Given the description of an element on the screen output the (x, y) to click on. 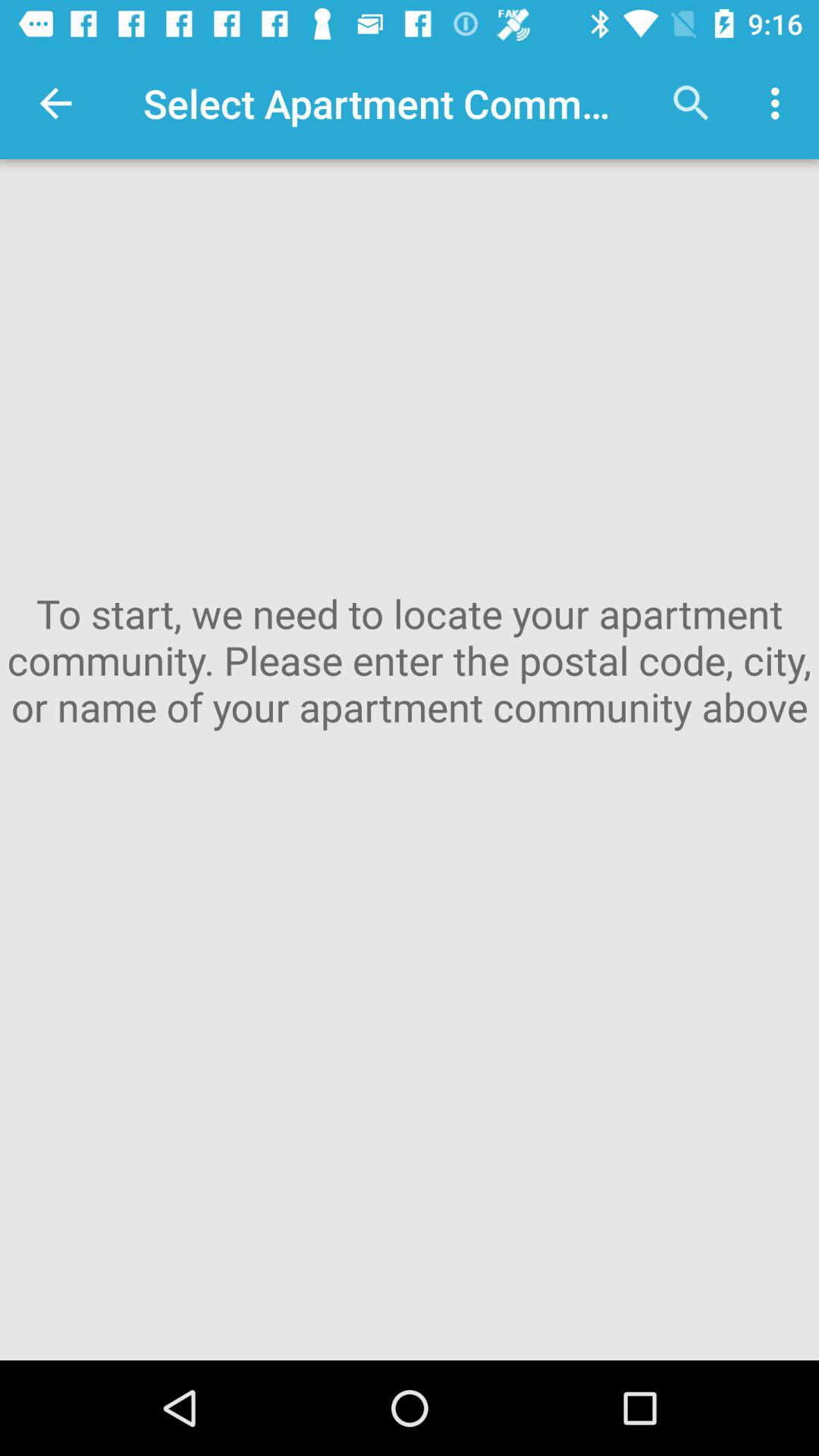
press the icon above to start we icon (55, 103)
